Given the description of an element on the screen output the (x, y) to click on. 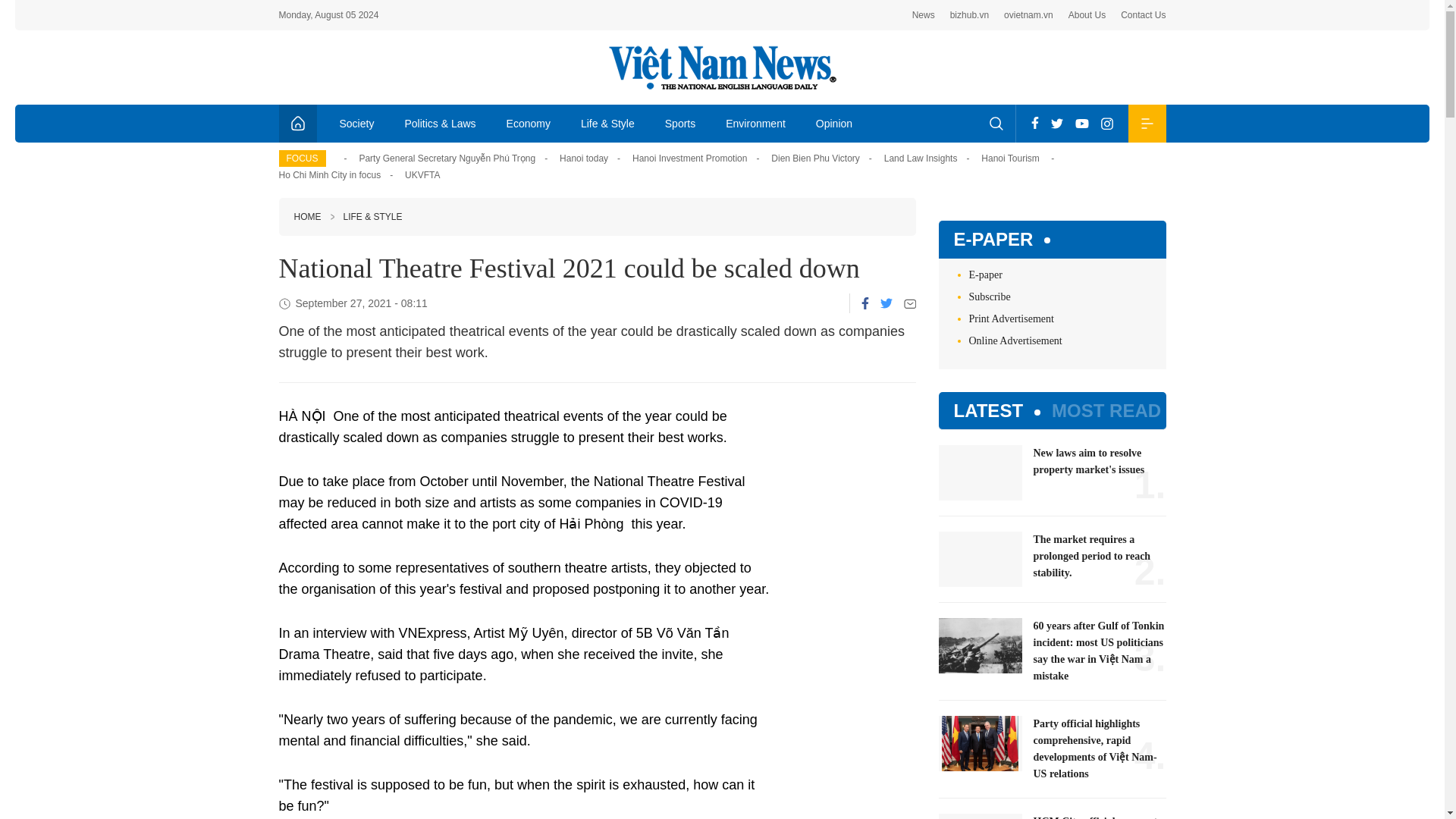
Economy (529, 123)
Twitter (1056, 122)
ovietnam.vn (1028, 15)
bizhub.vn (969, 15)
Society (357, 123)
About Us (1086, 15)
News (923, 15)
Opinion (833, 123)
Facebook (1035, 123)
Environment (755, 123)
Facebook (865, 303)
Instagram (1106, 123)
Sports (679, 123)
Twitter (885, 303)
Email (909, 303)
